Given the description of an element on the screen output the (x, y) to click on. 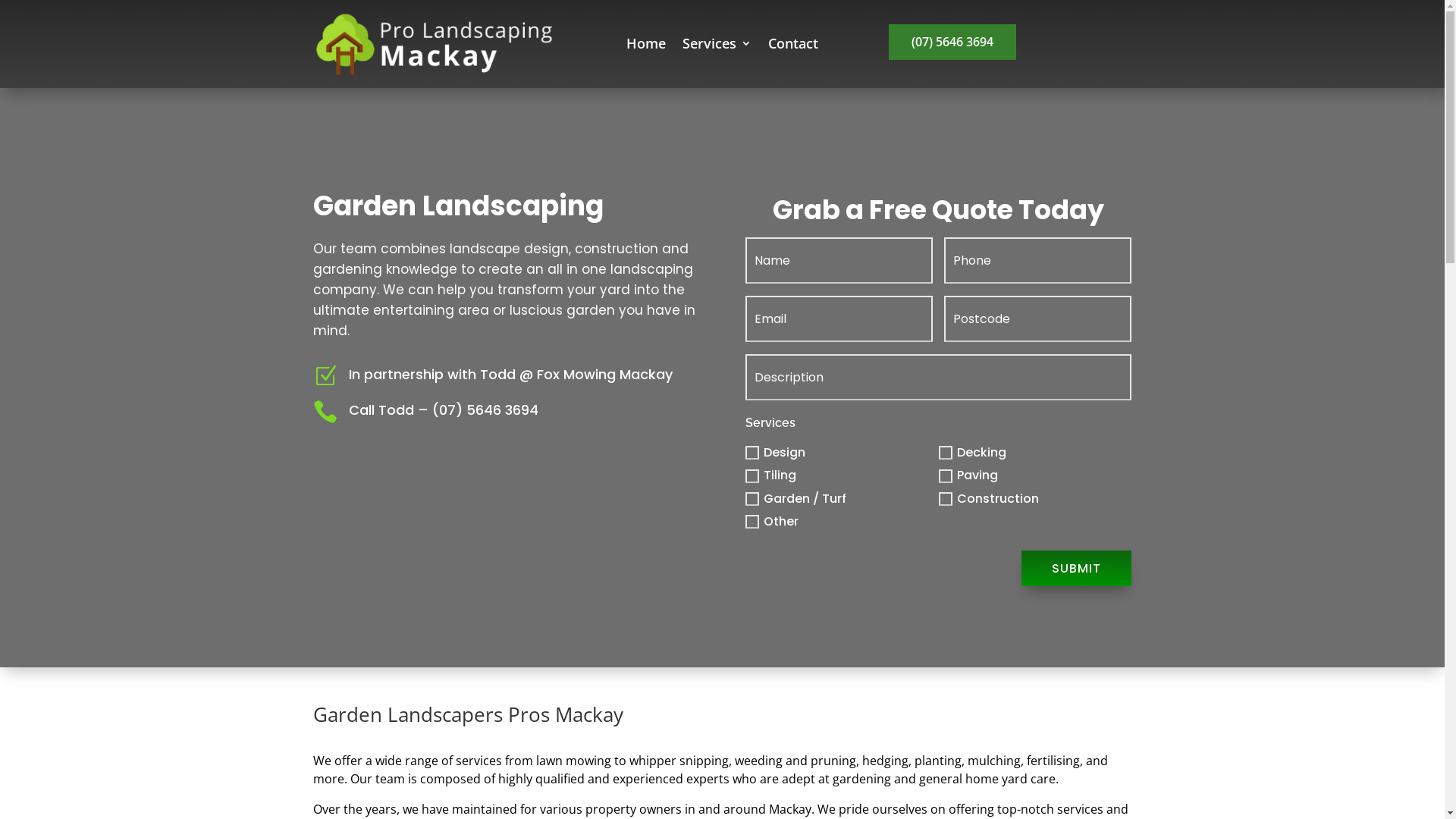
Services Element type: text (716, 45)
Contact Element type: text (793, 45)
Copy of Copy of Copy of landscaping logo Element type: hover (433, 43)
Home Element type: text (645, 45)
(07) 5646 3694 Element type: text (952, 41)
SUBMIT Element type: text (1076, 568)
